Given the description of an element on the screen output the (x, y) to click on. 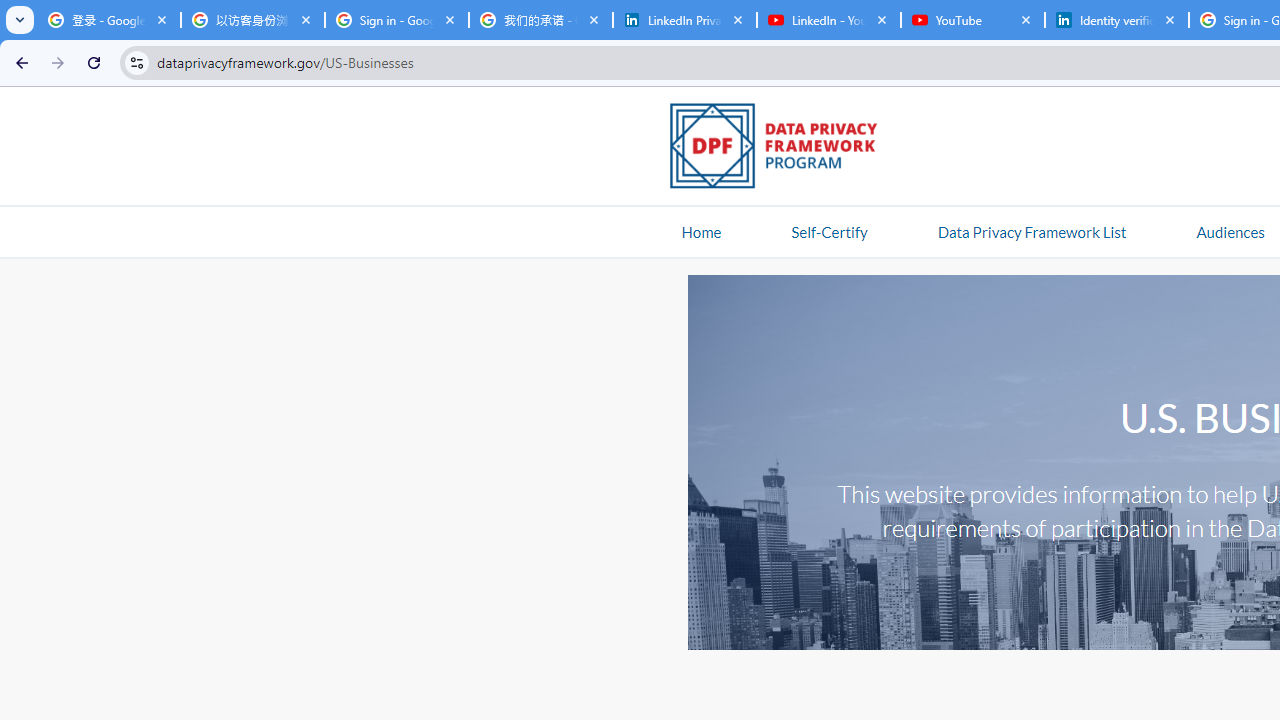
Home (701, 231)
YouTube (972, 20)
Sign in - Google Accounts (396, 20)
LinkedIn - YouTube (828, 20)
Data Privacy Framework Logo - Link to Homepage (783, 149)
Self-Certify (829, 231)
LinkedIn Privacy Policy (684, 20)
